Given the description of an element on the screen output the (x, y) to click on. 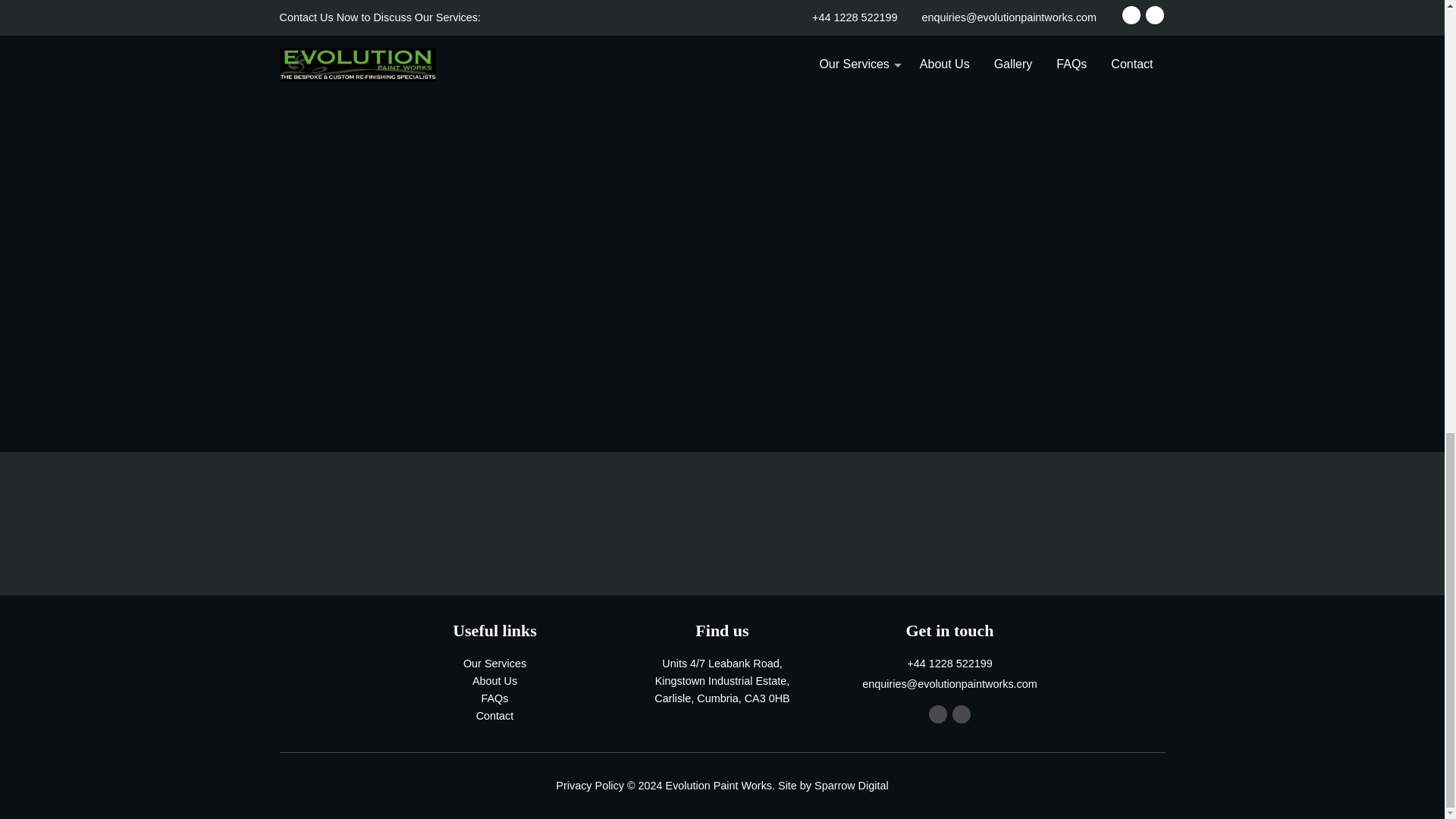
Site by Sparrow Digital (832, 785)
Contact (494, 715)
Our Services (494, 663)
About Us (494, 681)
FAQs (494, 698)
Privacy Policy (590, 785)
